Given the description of an element on the screen output the (x, y) to click on. 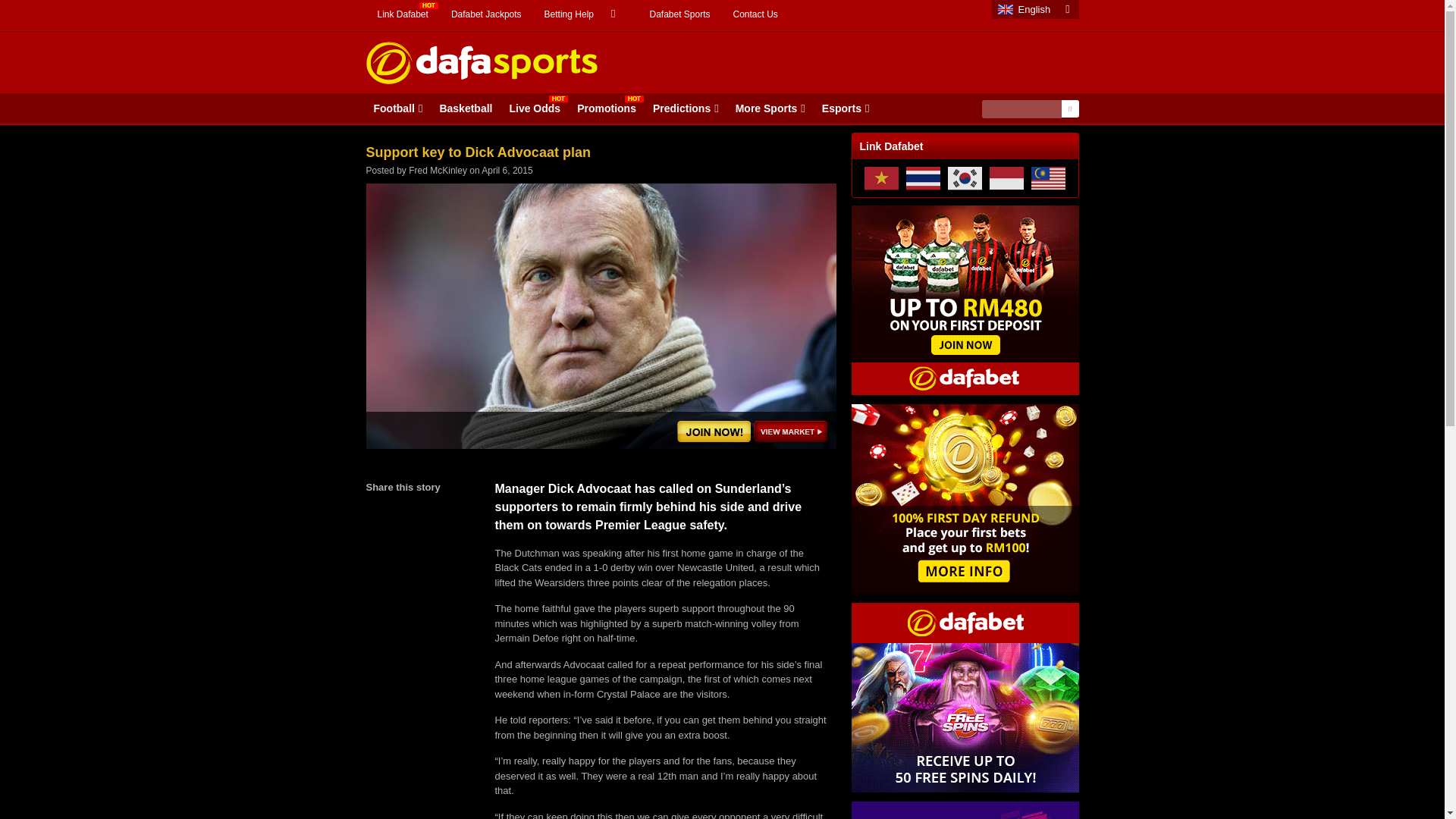
Contact Us (755, 14)
Dafabet Jackpots (486, 14)
Link Dafabet (402, 14)
Follow Us on Indonesia (1006, 178)
Dafabet Sports (679, 14)
Follow Us on Malaysia (1047, 178)
Follow Us on Korea (964, 178)
Betting Help (585, 14)
Follow Us on Thai (922, 178)
View all posts by Fred McKinley (438, 170)
Follow Us on Vietnam (881, 178)
